Given the description of an element on the screen output the (x, y) to click on. 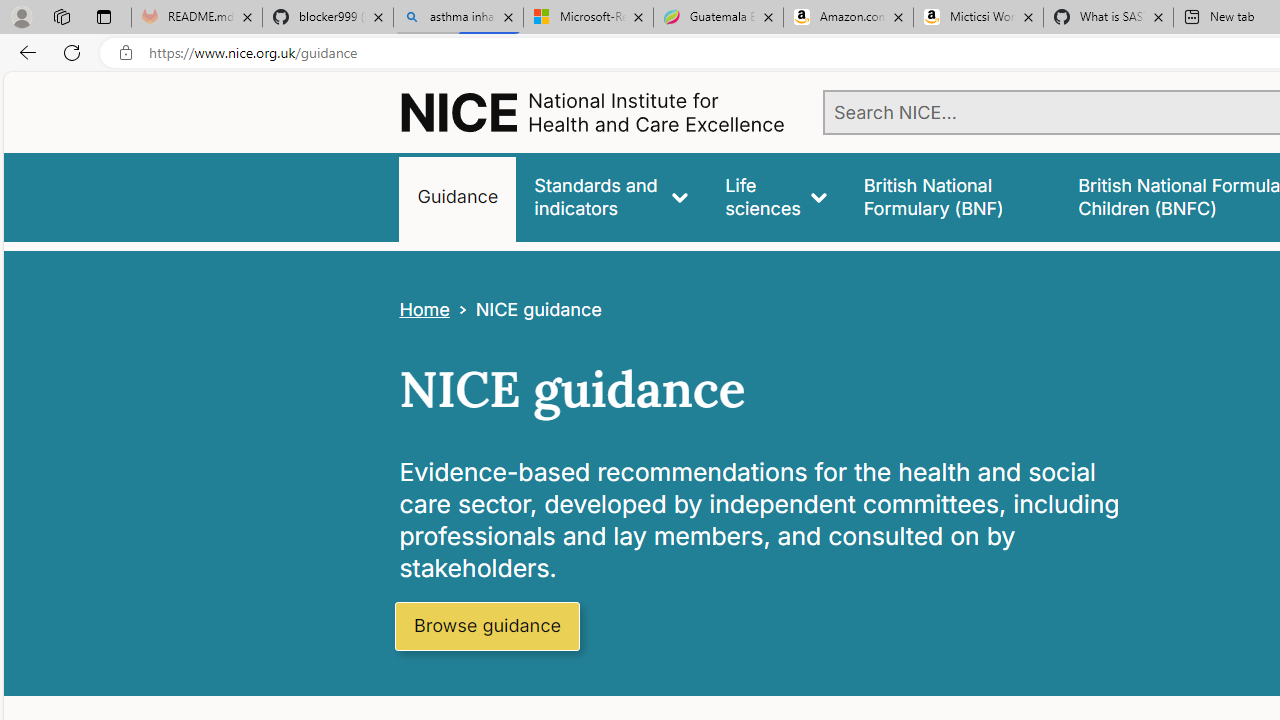
false (952, 196)
